Given the description of an element on the screen output the (x, y) to click on. 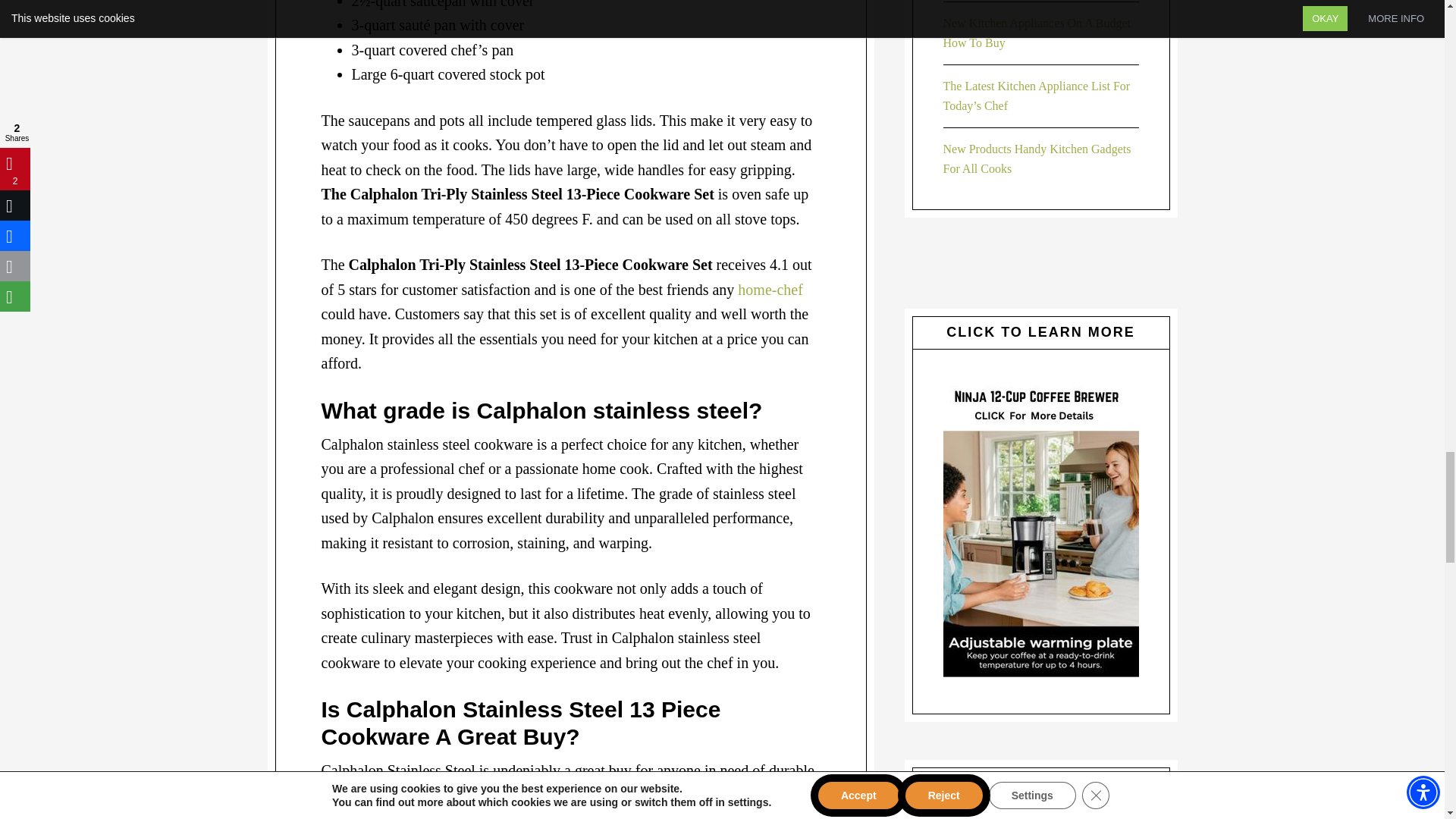
New Products Handy Kitchen Gadgets For All Cooks (1037, 158)
New Kitchen Appliances On A Budget How To Buy (1037, 32)
home-chef (770, 289)
